Given the description of an element on the screen output the (x, y) to click on. 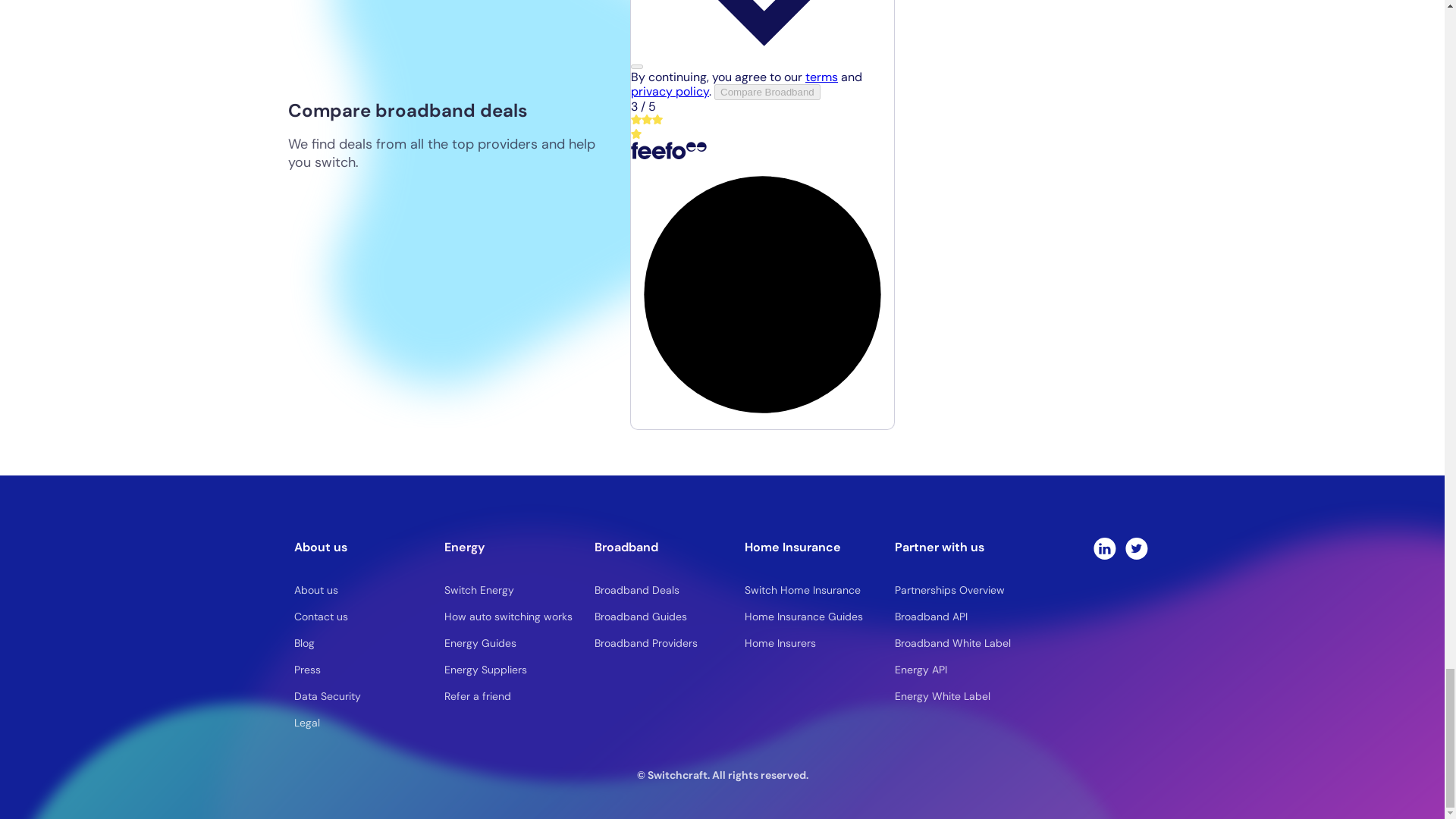
Switchcraft on Twitter (1136, 548)
Switchcraft on LinkedIn (1104, 548)
